Given the description of an element on the screen output the (x, y) to click on. 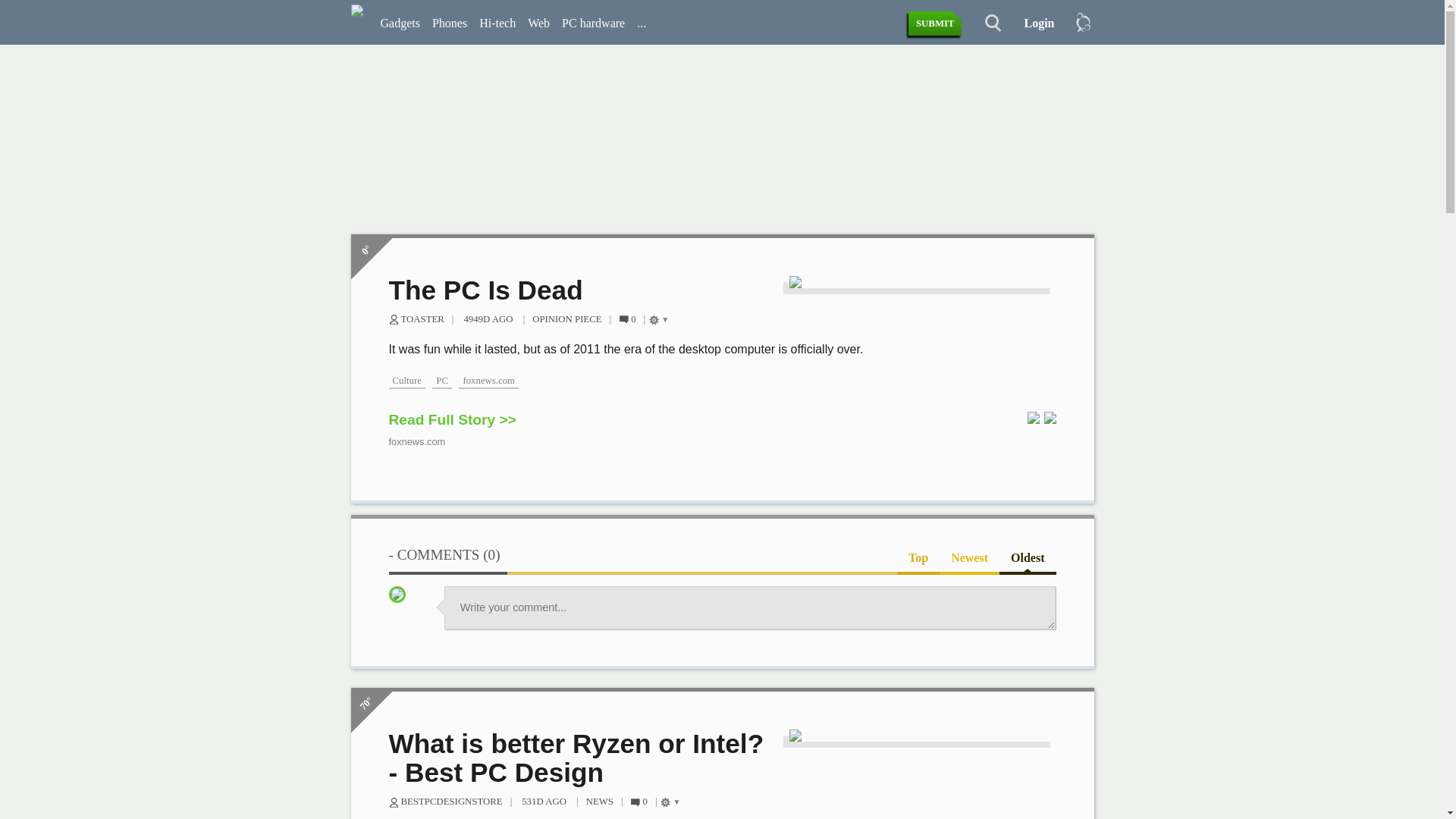
Search (984, 23)
Gadgets (477, 24)
SUBMIT (935, 23)
Web (615, 24)
Hi-tech (574, 24)
Phones (526, 24)
Login (1033, 23)
PC hardware (670, 24)
